Given the description of an element on the screen output the (x, y) to click on. 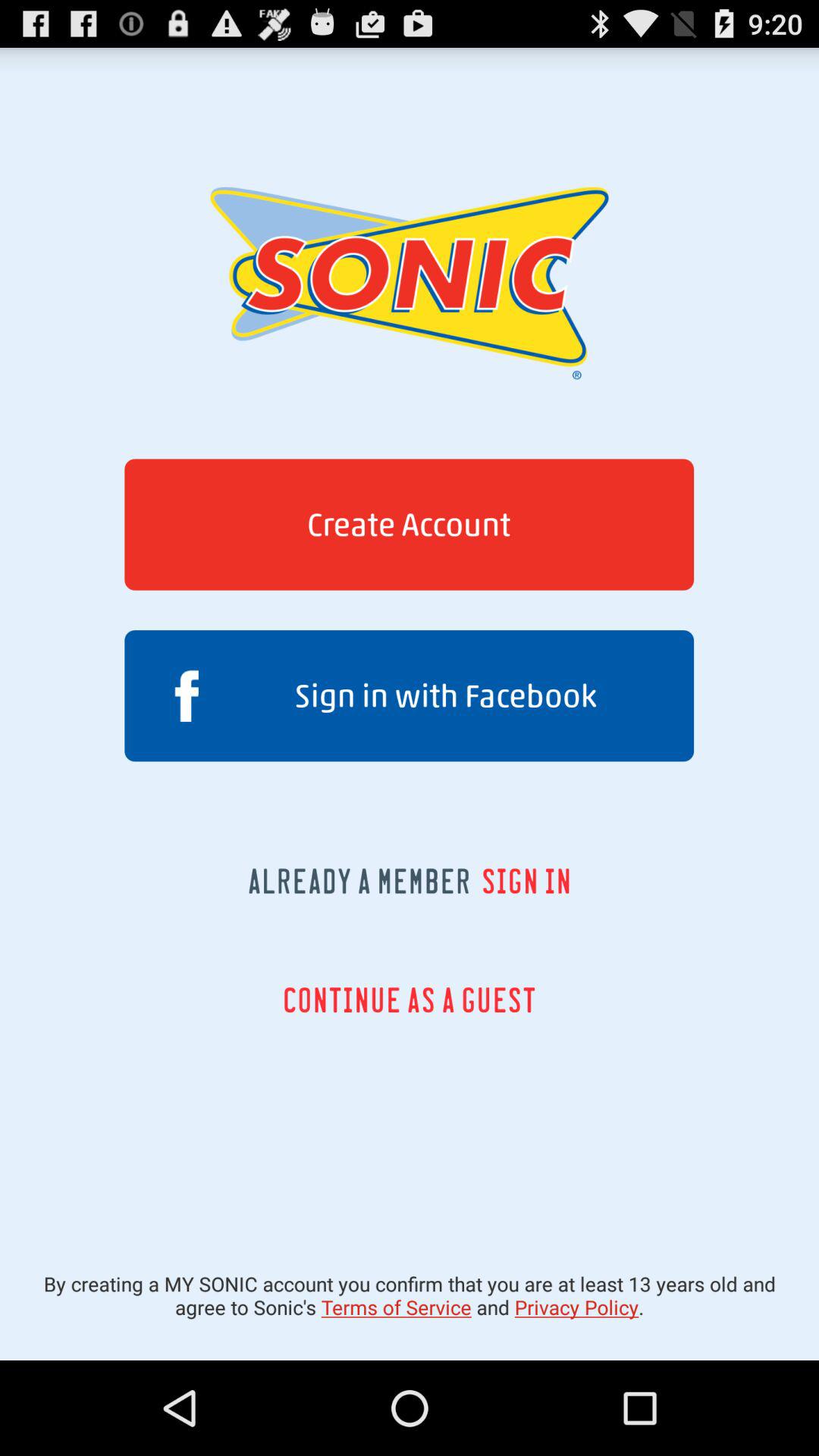
click continue as a app (409, 999)
